Given the description of an element on the screen output the (x, y) to click on. 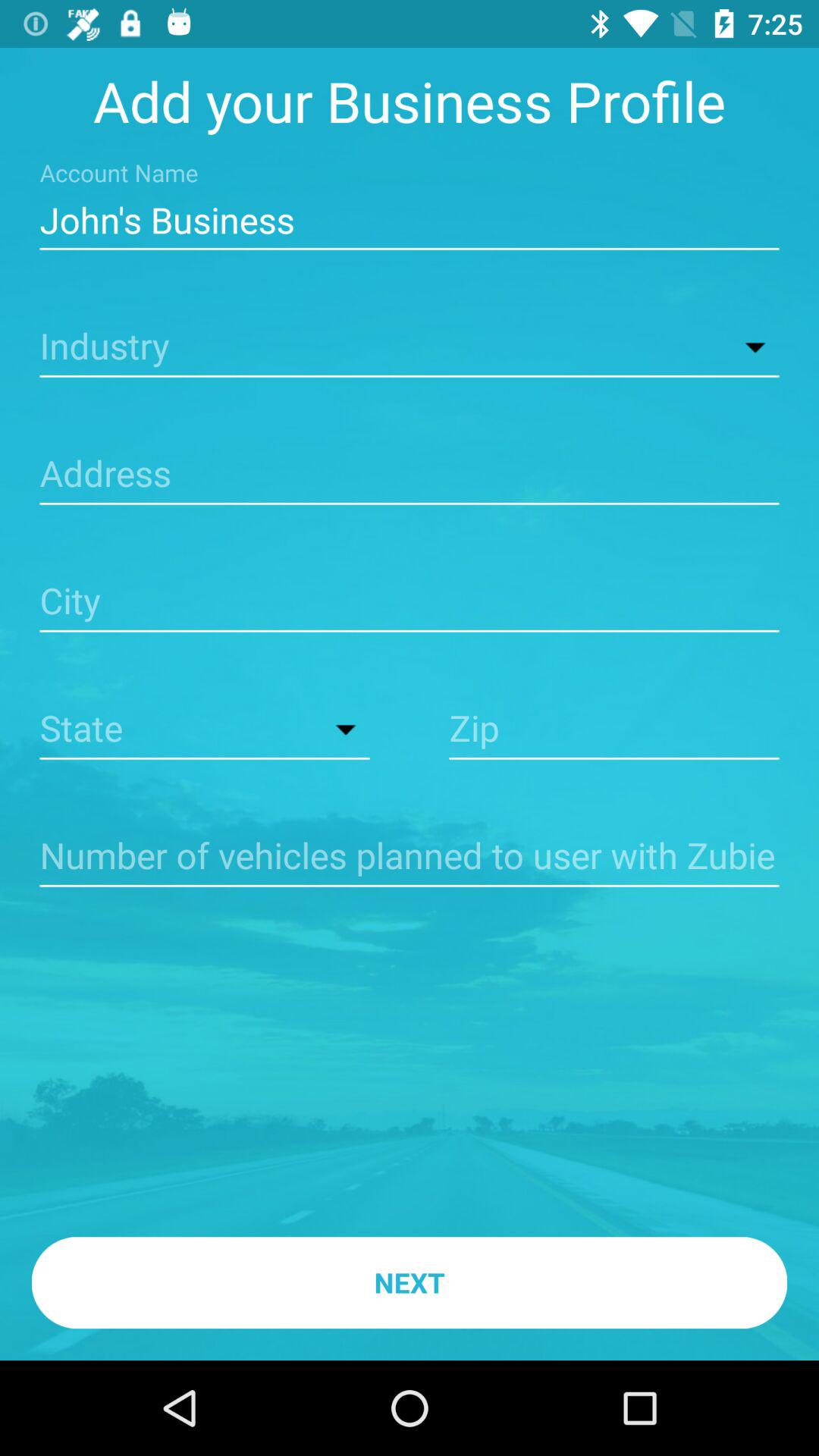
give zipcode (614, 730)
